Given the description of an element on the screen output the (x, y) to click on. 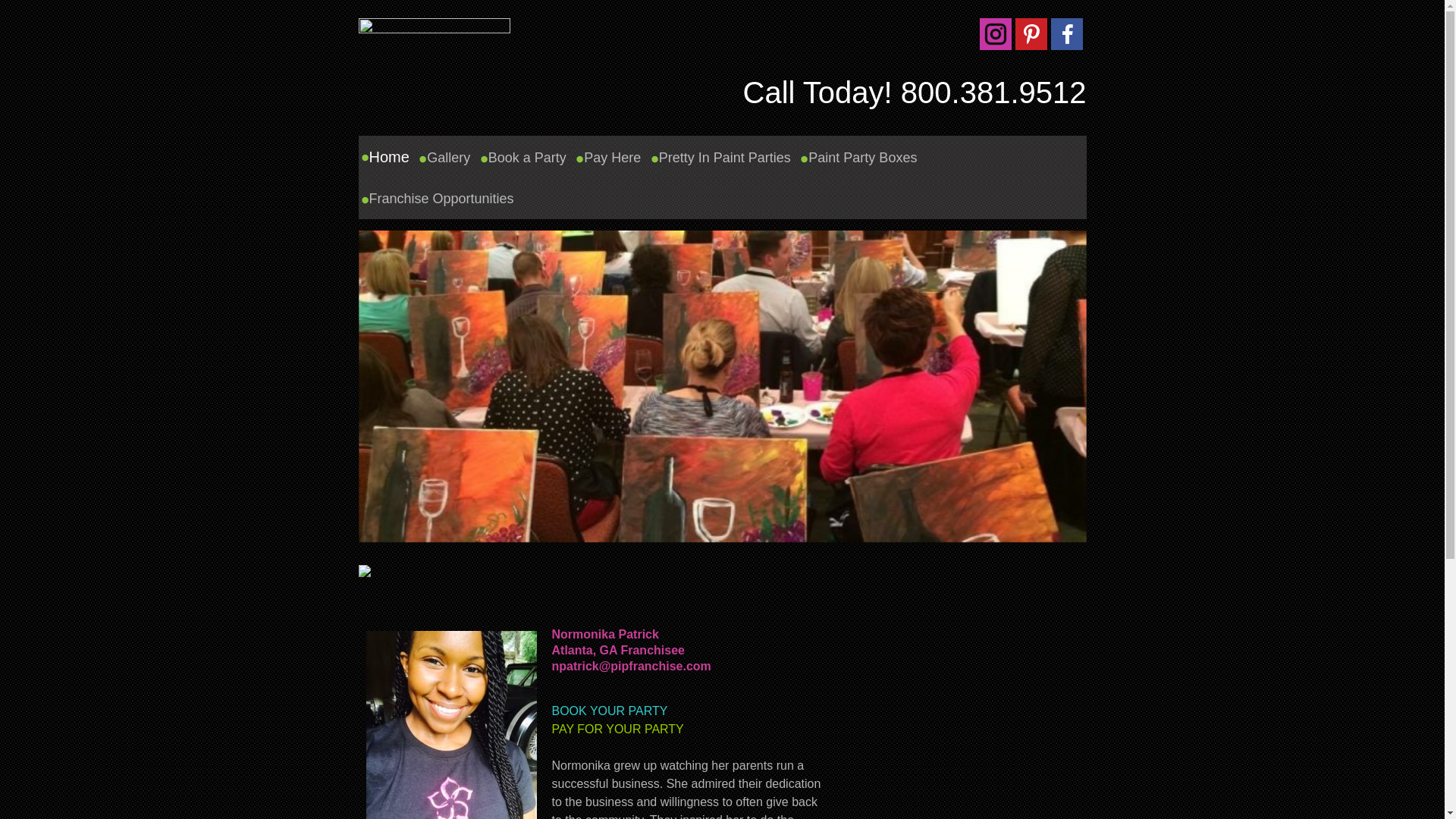
Gallery (448, 157)
Franchise Opportunities (441, 198)
Pay Here (612, 157)
PAY FOR YOUR PARTY (617, 728)
Book a Party (527, 157)
BOOK YOUR PARTY (609, 710)
Home (389, 156)
